Given the description of an element on the screen output the (x, y) to click on. 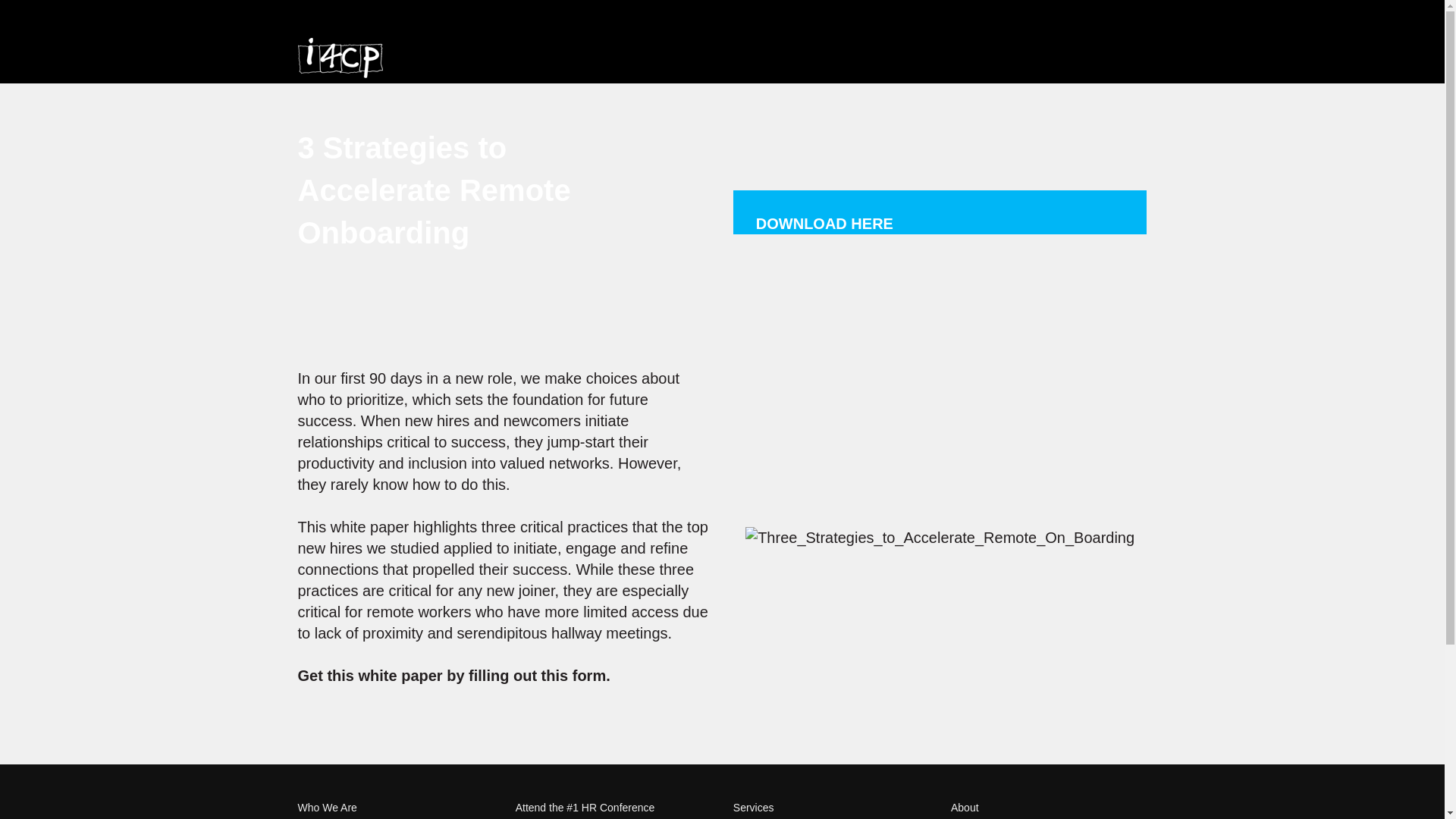
Logo (339, 57)
